Given the description of an element on the screen output the (x, y) to click on. 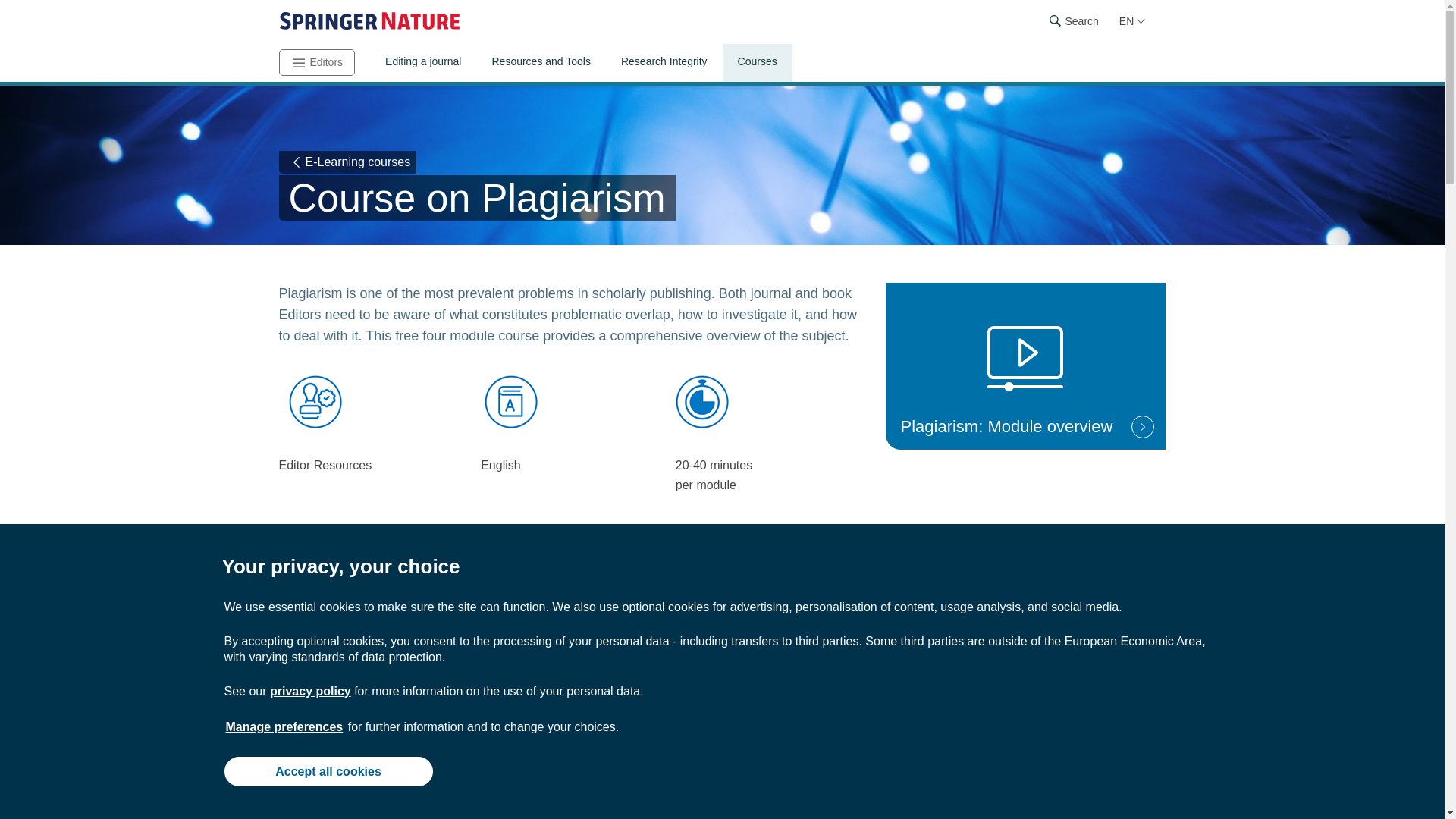
E-Learning courses (347, 161)
Accept all cookies (328, 771)
Manage preferences (284, 726)
Research Integrity (663, 62)
privacy policy (309, 690)
Editing a journal (422, 62)
Resources and Tools (540, 62)
Springer Nature (369, 20)
time (702, 401)
Courses (757, 62)
Editors (317, 62)
